Given the description of an element on the screen output the (x, y) to click on. 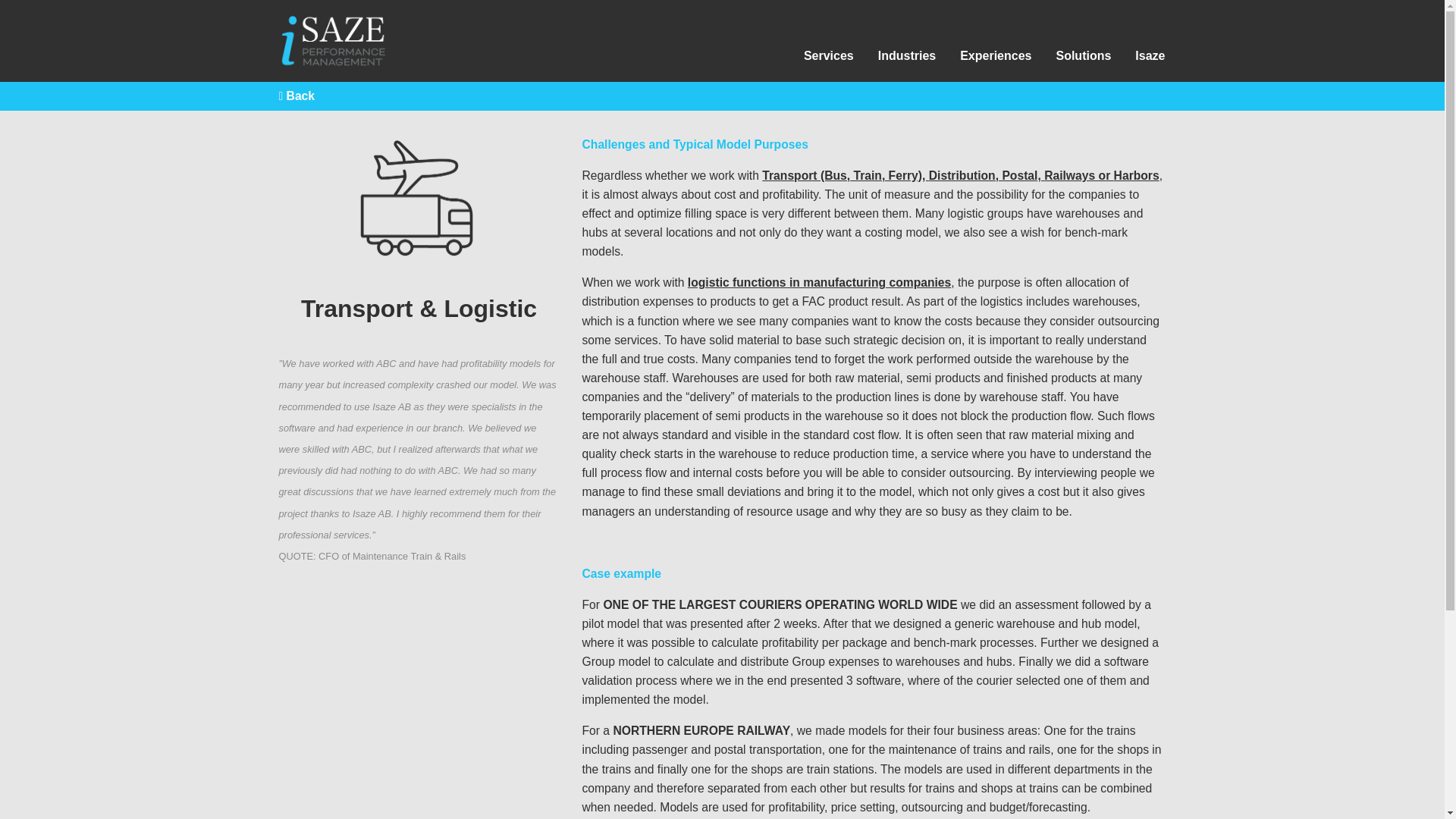
Services (829, 54)
Experiences (995, 54)
Industries (906, 54)
Isaze (1149, 54)
Solutions (1082, 54)
